Given the description of an element on the screen output the (x, y) to click on. 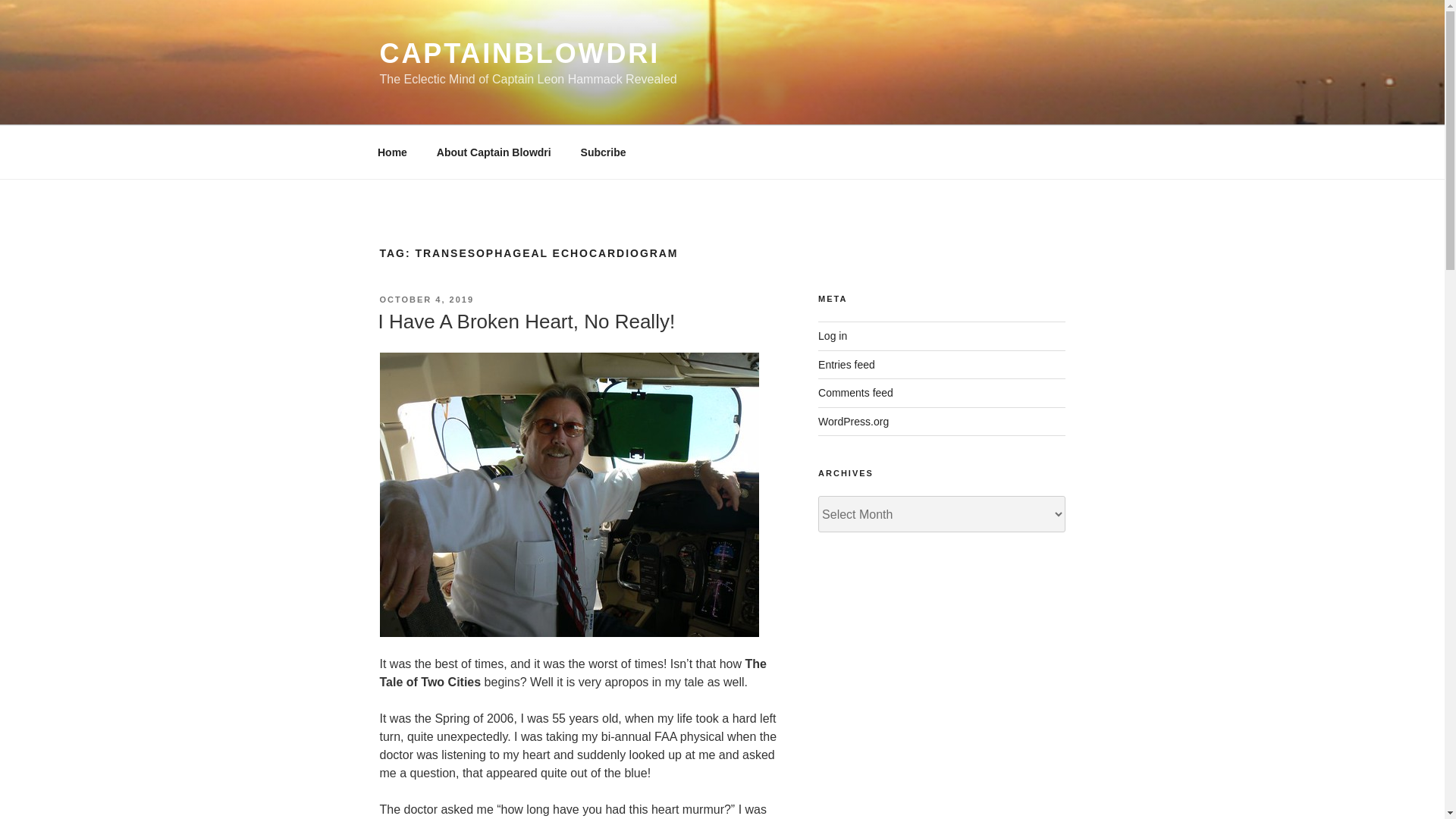
WordPress.org (853, 421)
Home (392, 151)
Comments feed (855, 392)
Subcribe (603, 151)
OCTOBER 4, 2019 (426, 298)
I Have A Broken Heart, No Really! (526, 321)
About Captain Blowdri (493, 151)
Log in (832, 336)
Entries feed (846, 364)
CAPTAINBLOWDRI (518, 52)
